Given the description of an element on the screen output the (x, y) to click on. 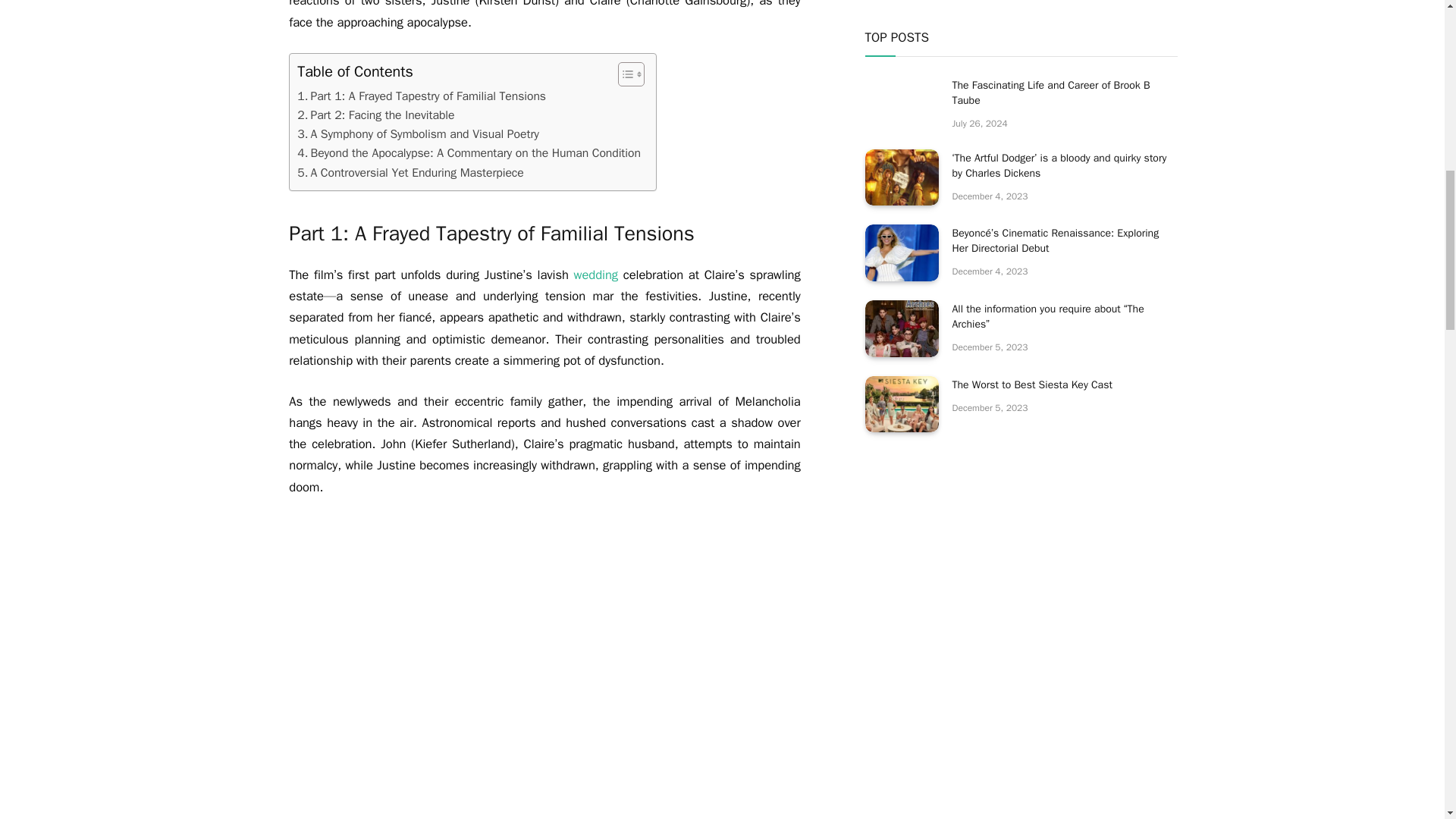
Beyond the Apocalypse: A Commentary on the Human Condition (468, 153)
A Symphony of Symbolism and Visual Poetry (417, 134)
Part 1: A Frayed Tapestry of Familial Tensions (421, 95)
A Controversial Yet Enduring Masterpiece (409, 172)
Part 2: Facing the Inevitable (375, 115)
